Given the description of an element on the screen output the (x, y) to click on. 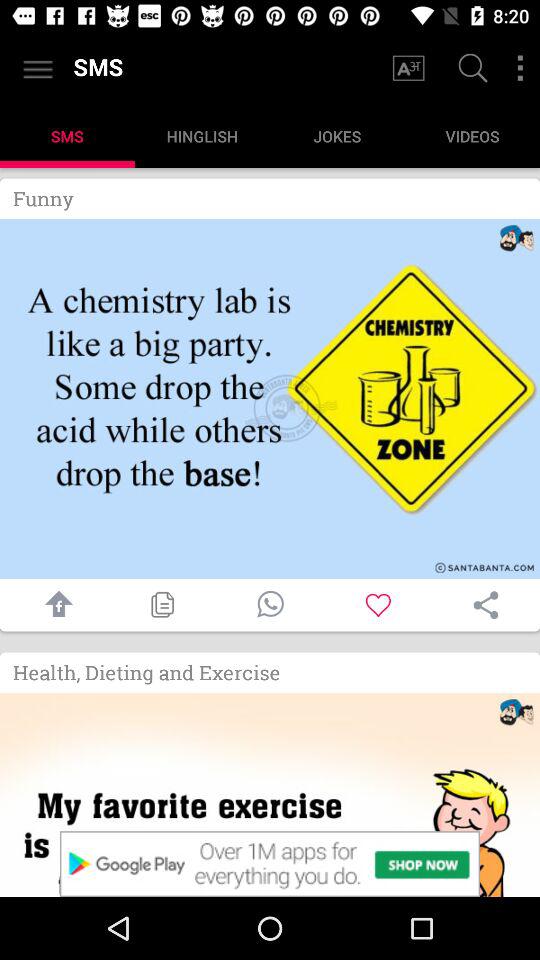
google play banner advertisement (270, 864)
